Given the description of an element on the screen output the (x, y) to click on. 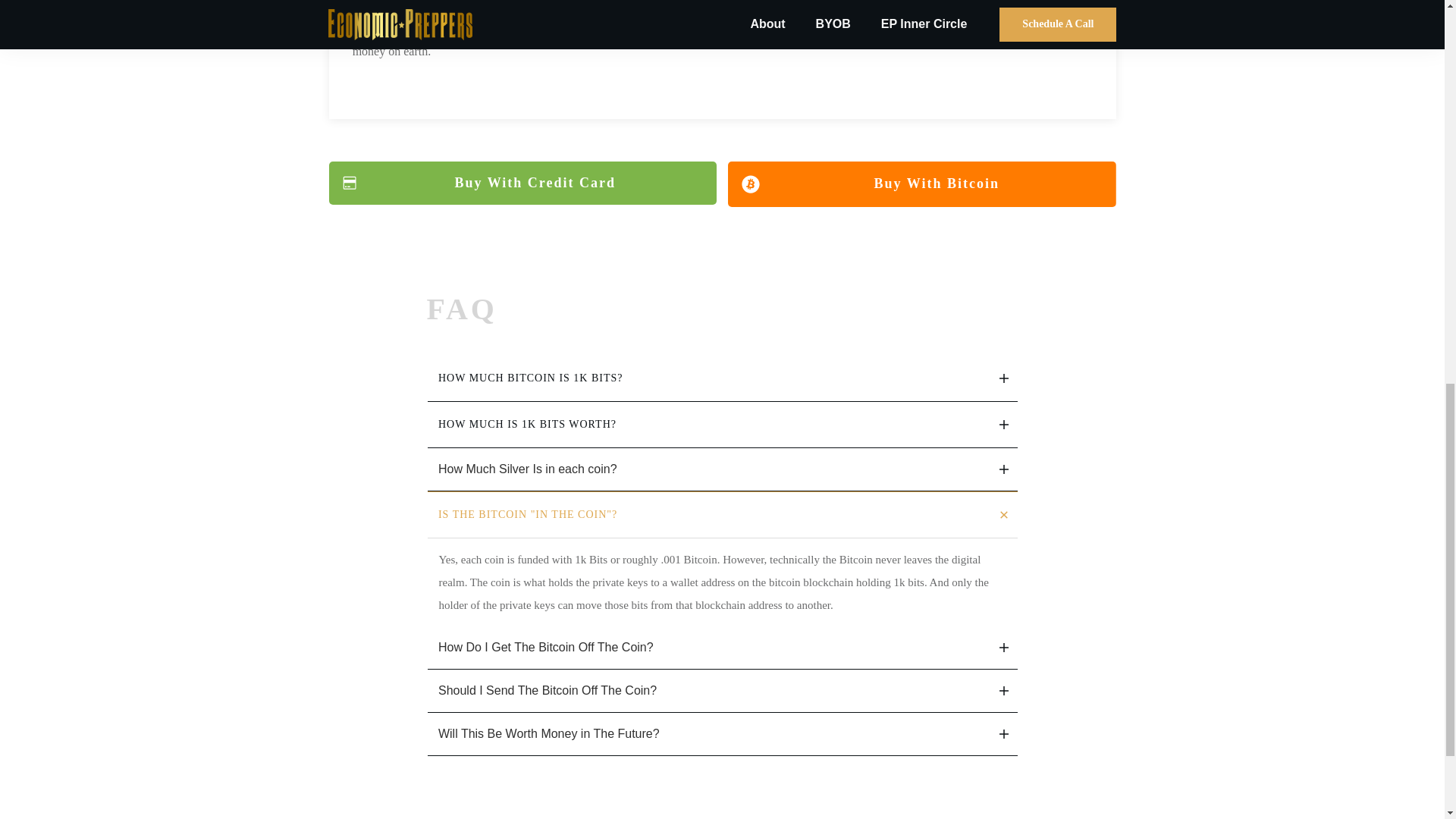
Buy With Credit Card (523, 183)
Buy With Bitcoin (922, 184)
